Given the description of an element on the screen output the (x, y) to click on. 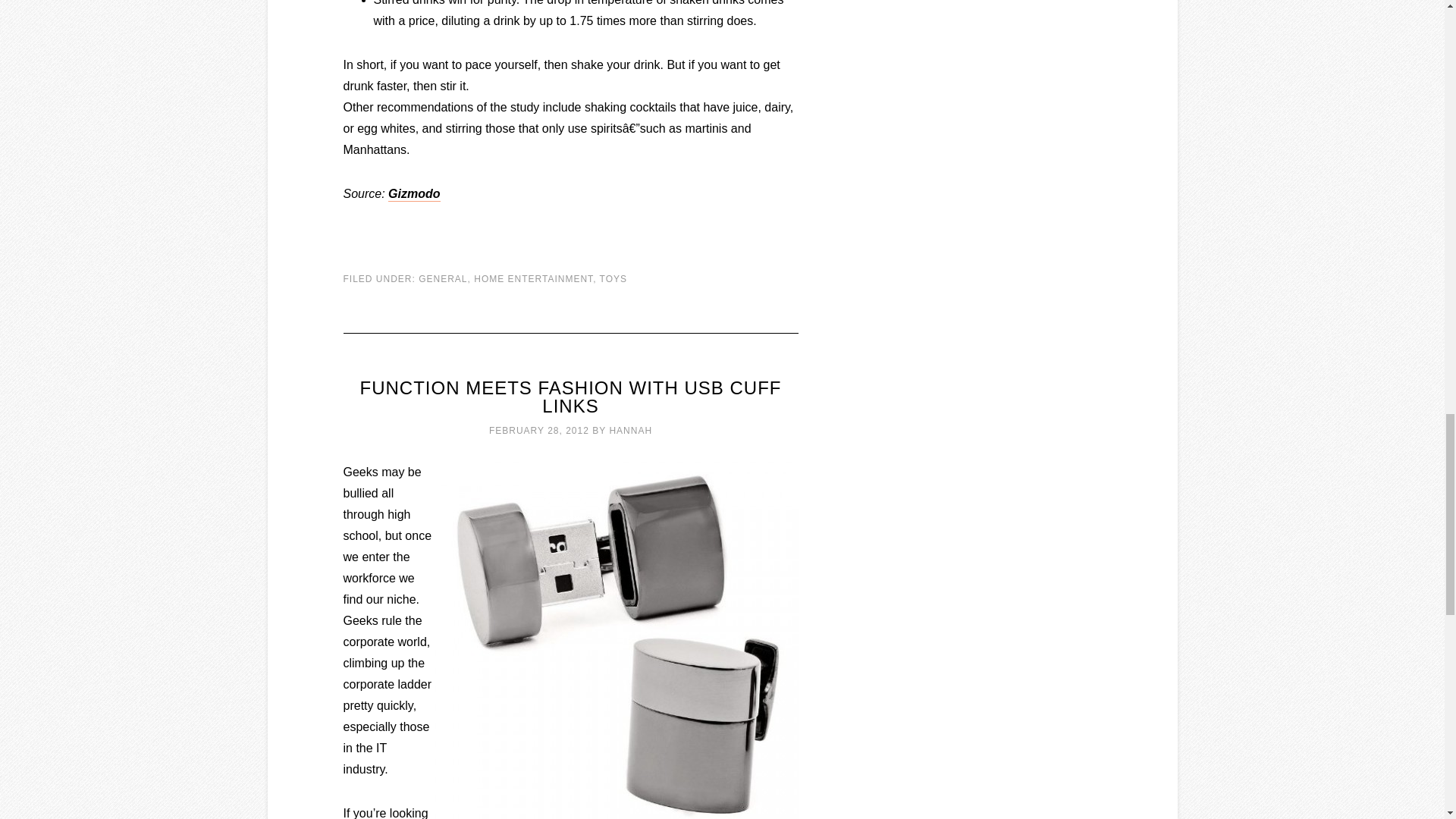
Gizmodo (413, 194)
TOYS (613, 278)
GENERAL (443, 278)
FUNCTION MEETS FASHION WITH USB CUFF LINKS (569, 396)
HOME ENTERTAINMENT (533, 278)
HANNAH (630, 430)
